Given the description of an element on the screen output the (x, y) to click on. 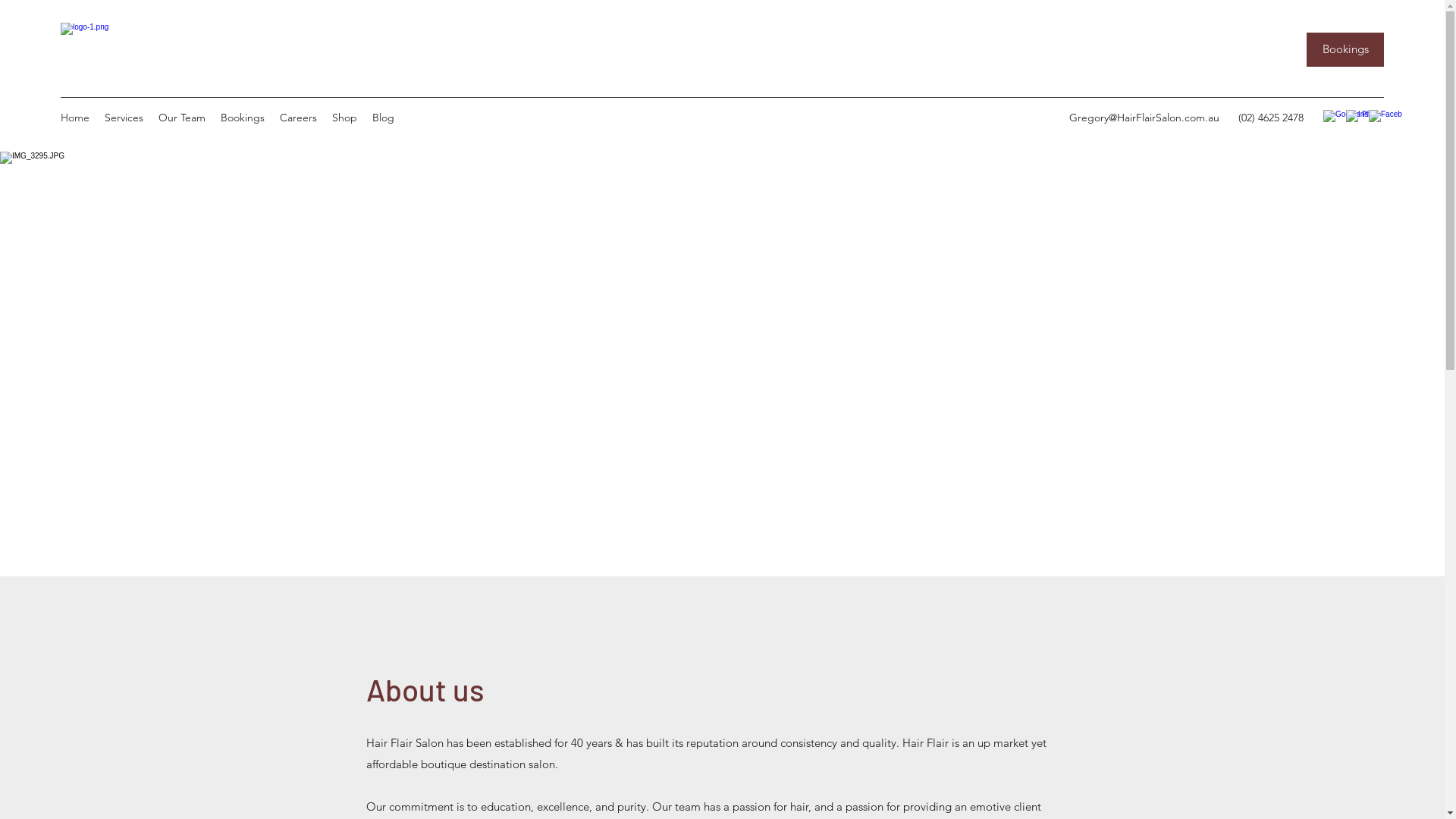
Shop Element type: text (344, 117)
Services Element type: text (123, 117)
Bookings Element type: text (1344, 49)
Gregory@HairFlairSalon.com.au Element type: text (1144, 117)
Careers Element type: text (298, 117)
Our Team Element type: text (181, 117)
Blog Element type: text (382, 117)
Home Element type: text (75, 117)
Bookings Element type: text (242, 117)
